Given the description of an element on the screen output the (x, y) to click on. 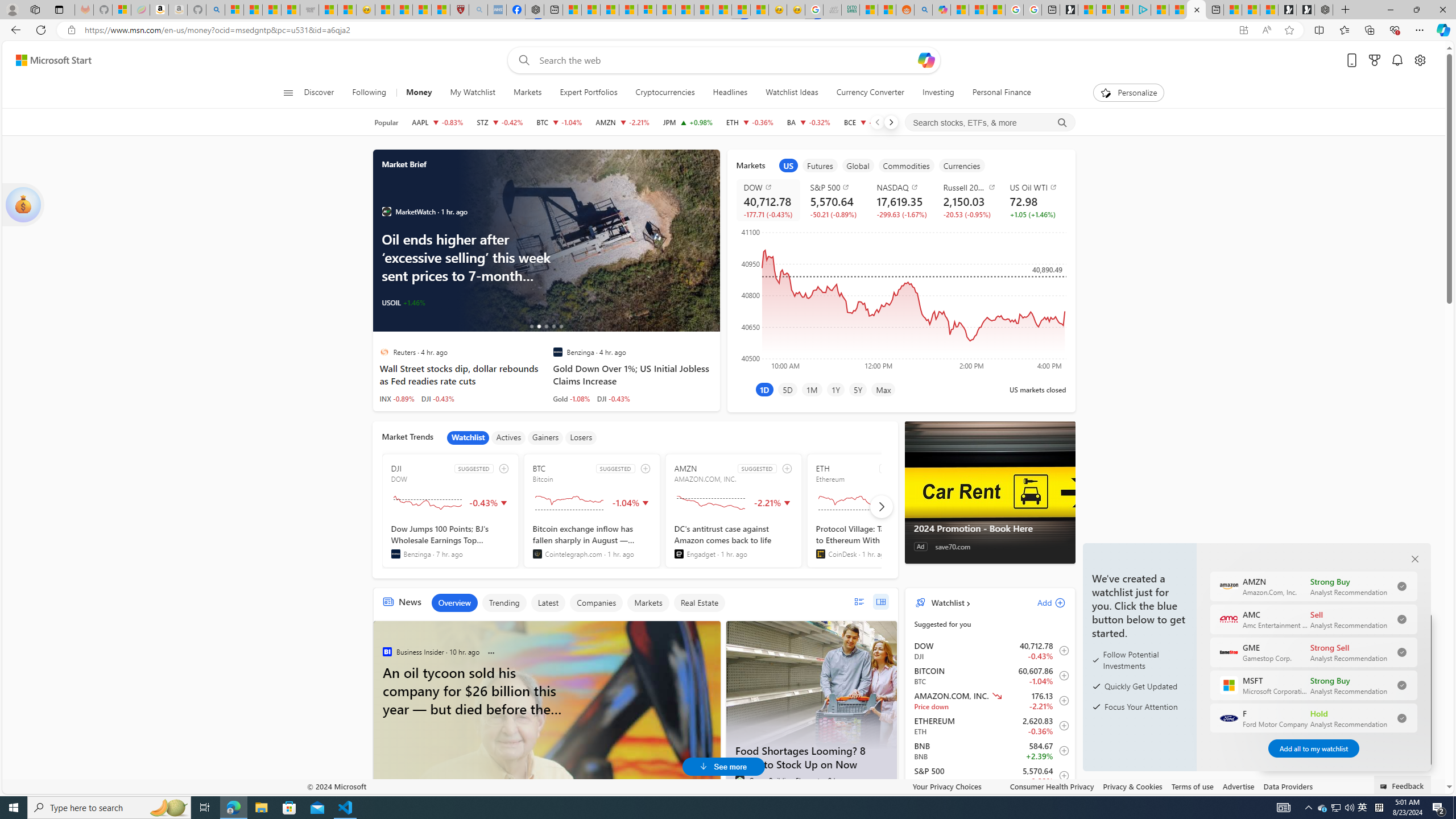
Microsoft rewards (1374, 60)
Trending (504, 602)
Feedback (1402, 784)
AMZN AMAZON.COM, INC. decrease 176.13 -3.98 -2.21% (622, 122)
Previous (876, 122)
Robert H. Shmerling, MD - Harvard Health (459, 9)
Money (418, 92)
Ad (919, 546)
item2 (819, 164)
Cryptocurrencies (665, 92)
Watchlist (946, 602)
